Given the description of an element on the screen output the (x, y) to click on. 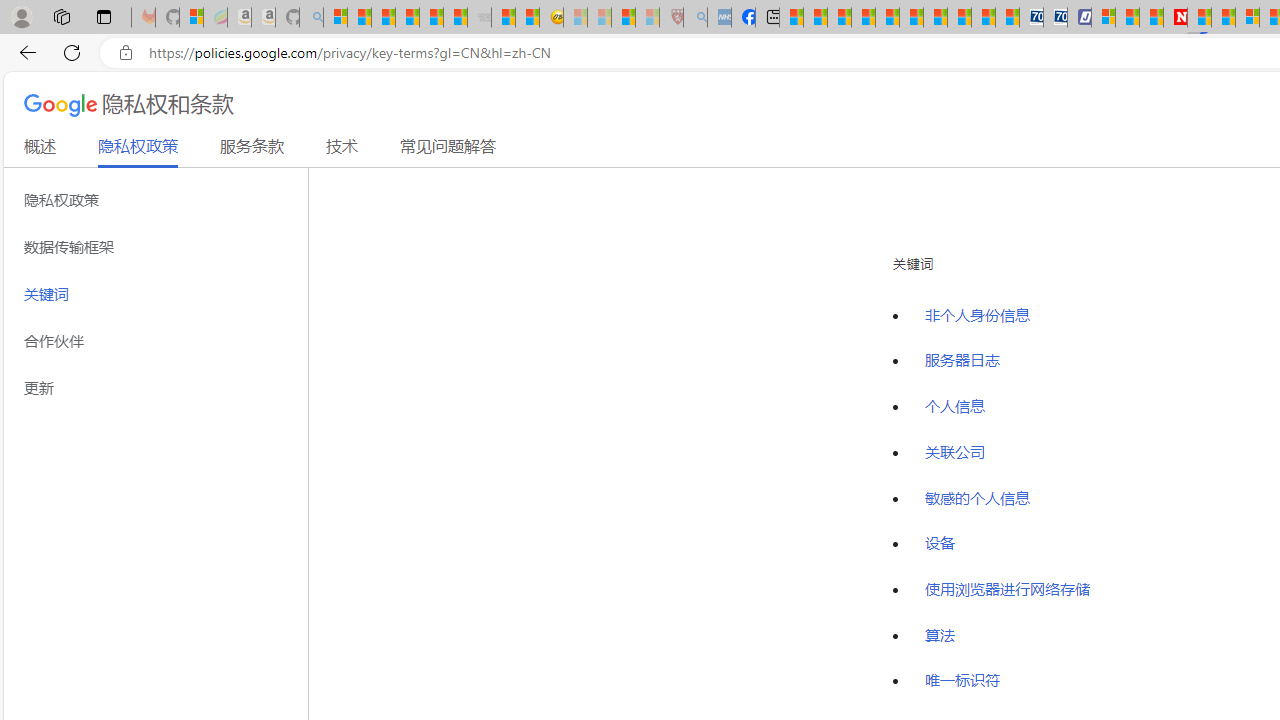
World - MSN (839, 17)
Newsweek - News, Analysis, Politics, Business, Technology (1174, 17)
Cheap Hotels - Save70.com (1055, 17)
